Given the description of an element on the screen output the (x, y) to click on. 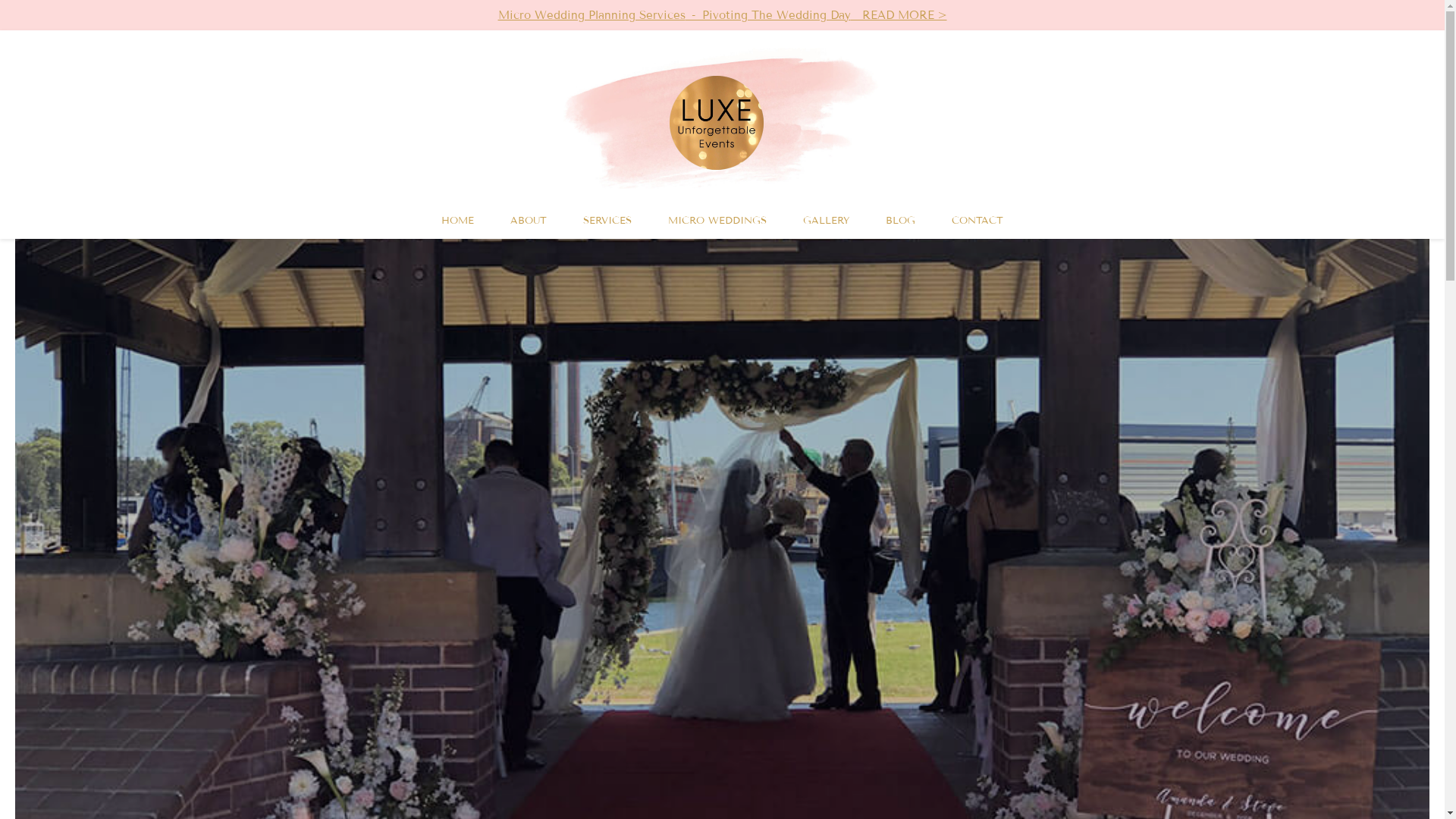
HOME Element type: text (457, 220)
GALLERY Element type: text (825, 220)
ABOUT Element type: text (528, 220)
BLOG Element type: text (900, 220)
Luxe Unforgettable Events Element type: hover (715, 122)
MICRO WEDDINGS Element type: text (716, 220)
SERVICES Element type: text (606, 220)
CONTACT Element type: text (977, 220)
